Given the description of an element on the screen output the (x, y) to click on. 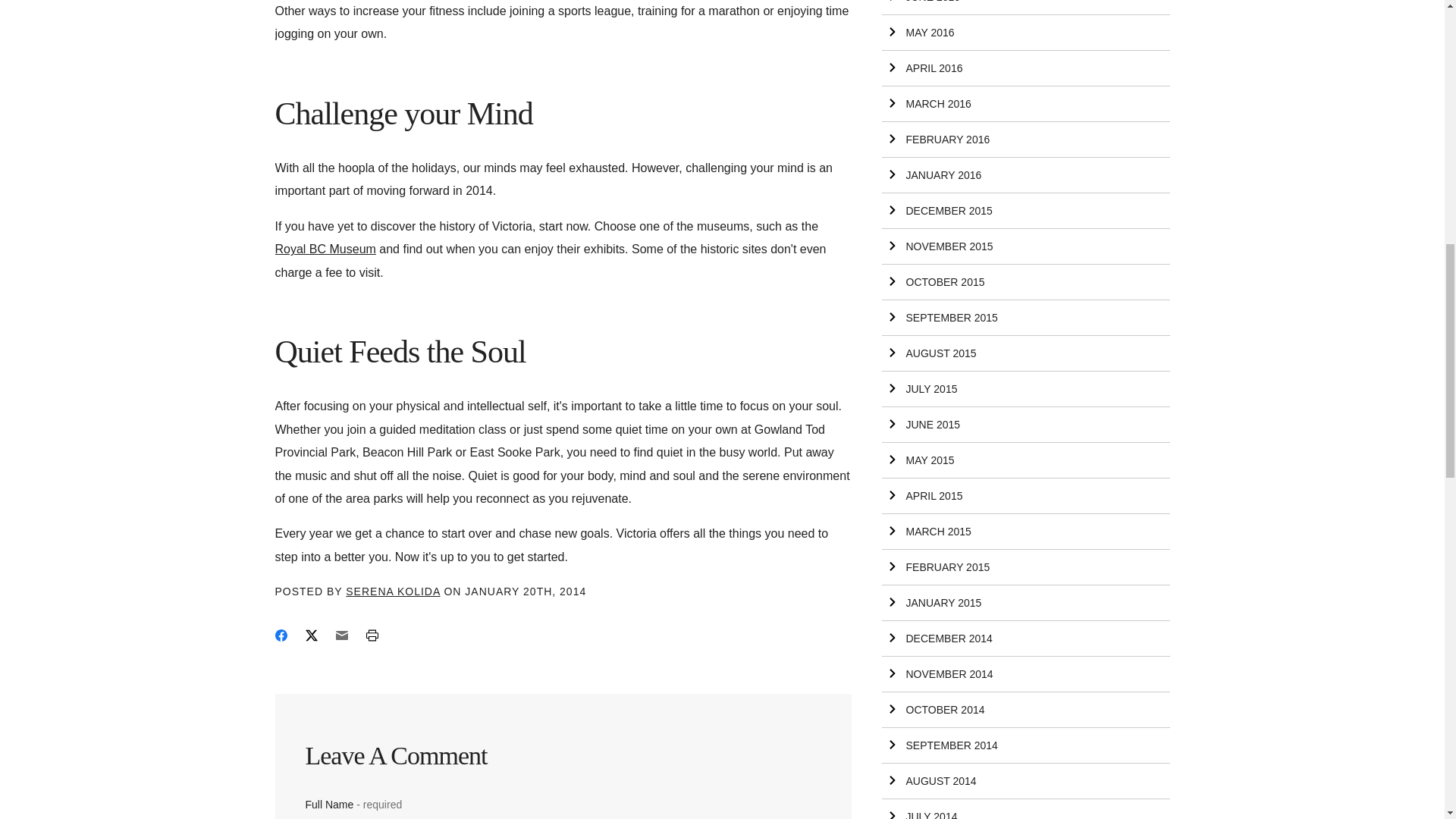
SERENA KOLIDA (392, 591)
Royal BC Museum (325, 248)
